Given the description of an element on the screen output the (x, y) to click on. 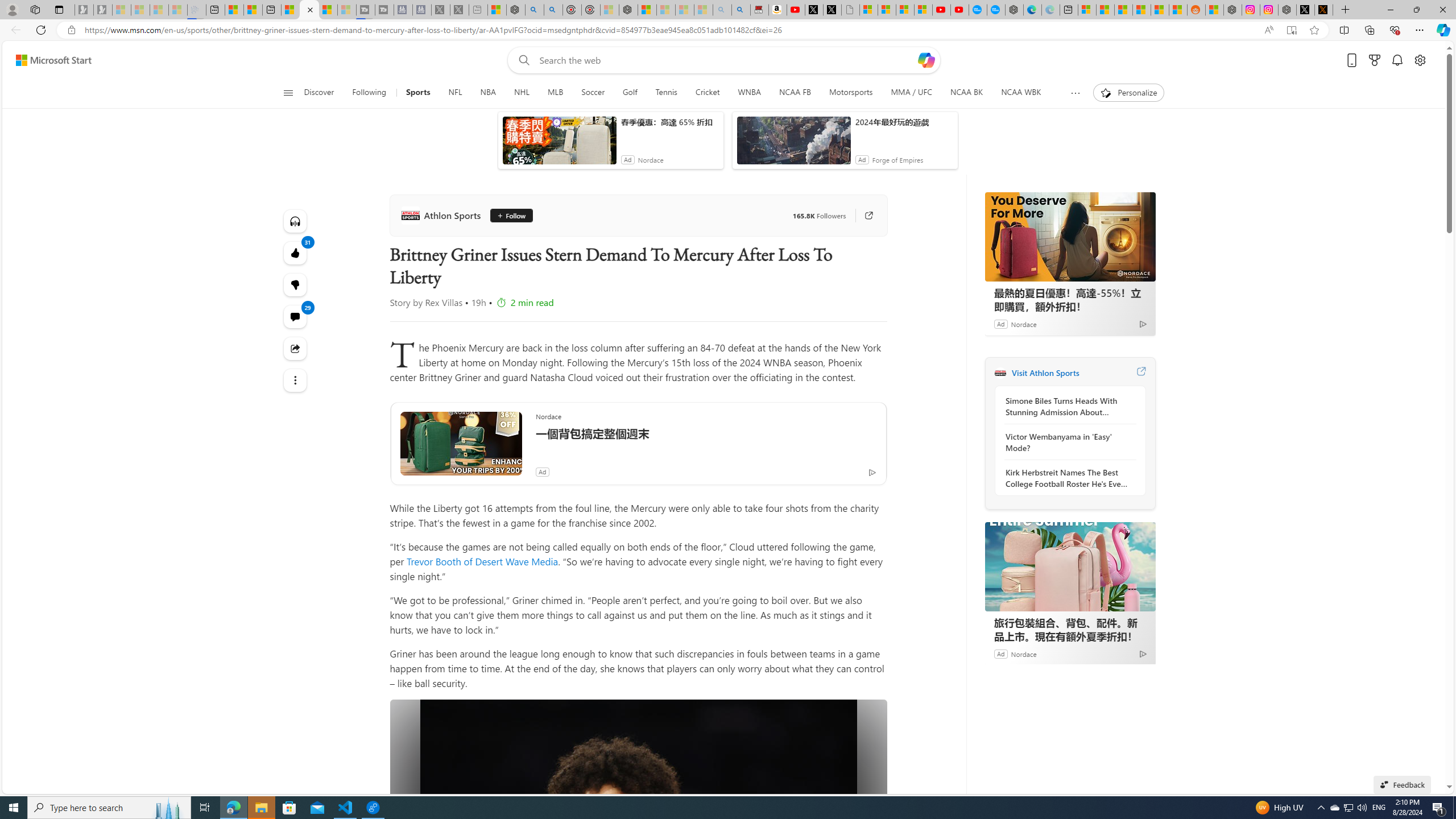
Skip to content (49, 59)
Open Copilot (925, 59)
NFL (455, 92)
New Tab (1346, 9)
WNBA (749, 92)
Settings and more (Alt+F) (1419, 29)
View site information (70, 29)
View comments 29 Comment (295, 316)
More like this31Fewer like thisView comments (295, 284)
Following (370, 92)
Restore (1416, 9)
Open settings (1420, 60)
